Given the description of an element on the screen output the (x, y) to click on. 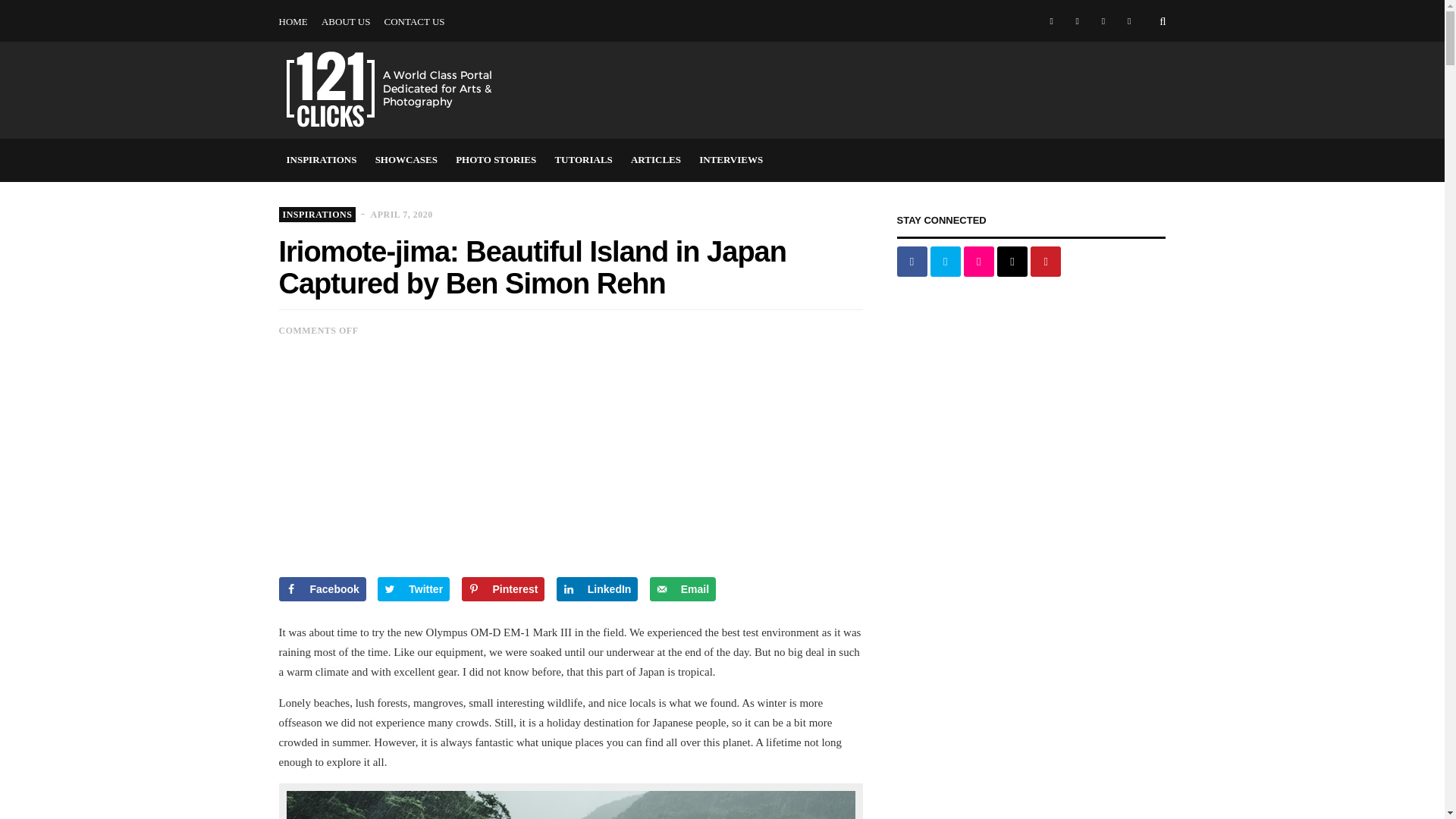
PHOTO STORIES (495, 159)
ABOUT US (345, 22)
ARTICLES (655, 159)
TUTORIALS (583, 159)
Advertisement (571, 470)
PHOTO STORIES (869, 0)
Send over email (682, 589)
INSPIRATIONS (703, 0)
INSPIRATIONS (322, 159)
Save to Pinterest (502, 589)
